Given the description of an element on the screen output the (x, y) to click on. 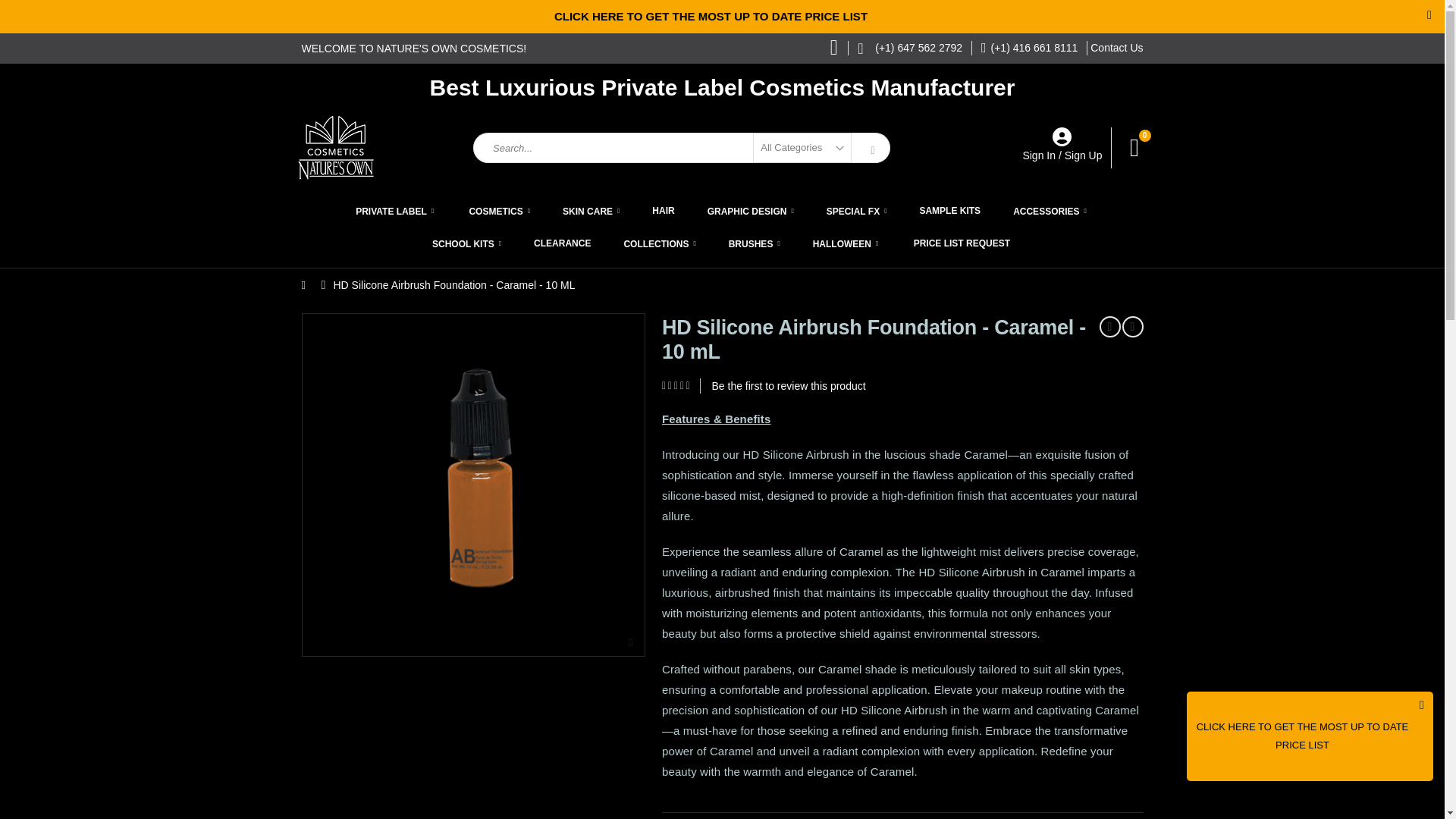
Sign In (1038, 155)
Cosmetics Nature's Own (373, 147)
Sign Up (1083, 155)
PRIVATE LABEL (394, 210)
Sign In (1038, 155)
CLICK HERE TO GET THE MOST UP TO DATE PRICE LIST (710, 15)
Search (870, 150)
CLICK HERE TO GET THE MOST UP TO DATE PRICE LIST (1302, 736)
COSMETICS (498, 210)
Cosmetics (498, 210)
Contact Us (1116, 46)
Sign Up (1083, 155)
